Given the description of an element on the screen output the (x, y) to click on. 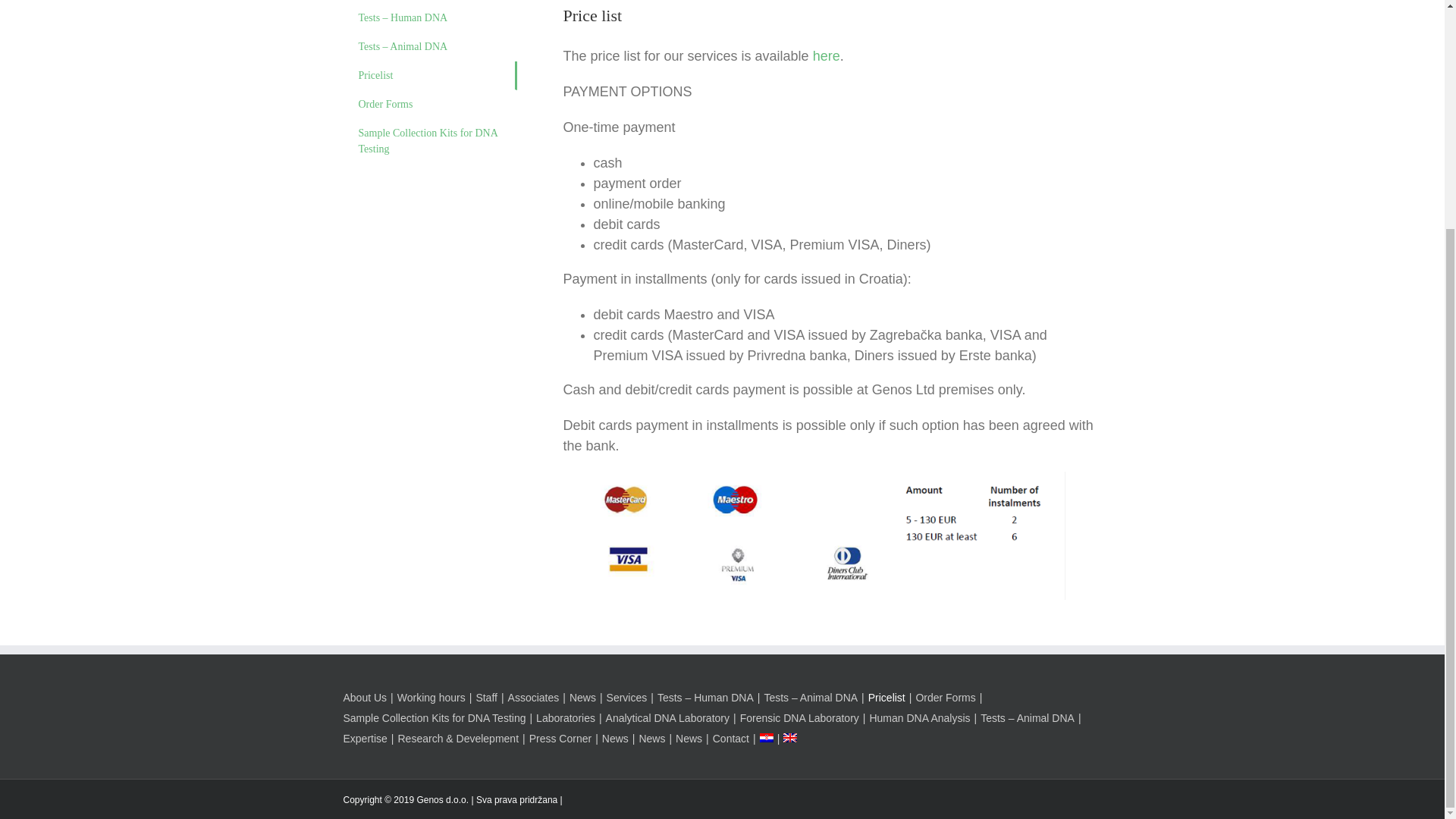
About Us (369, 697)
Pricelist (429, 75)
Order Forms (429, 104)
Sample Collection Kits for DNA Testing (429, 140)
here (826, 55)
